Given the description of an element on the screen output the (x, y) to click on. 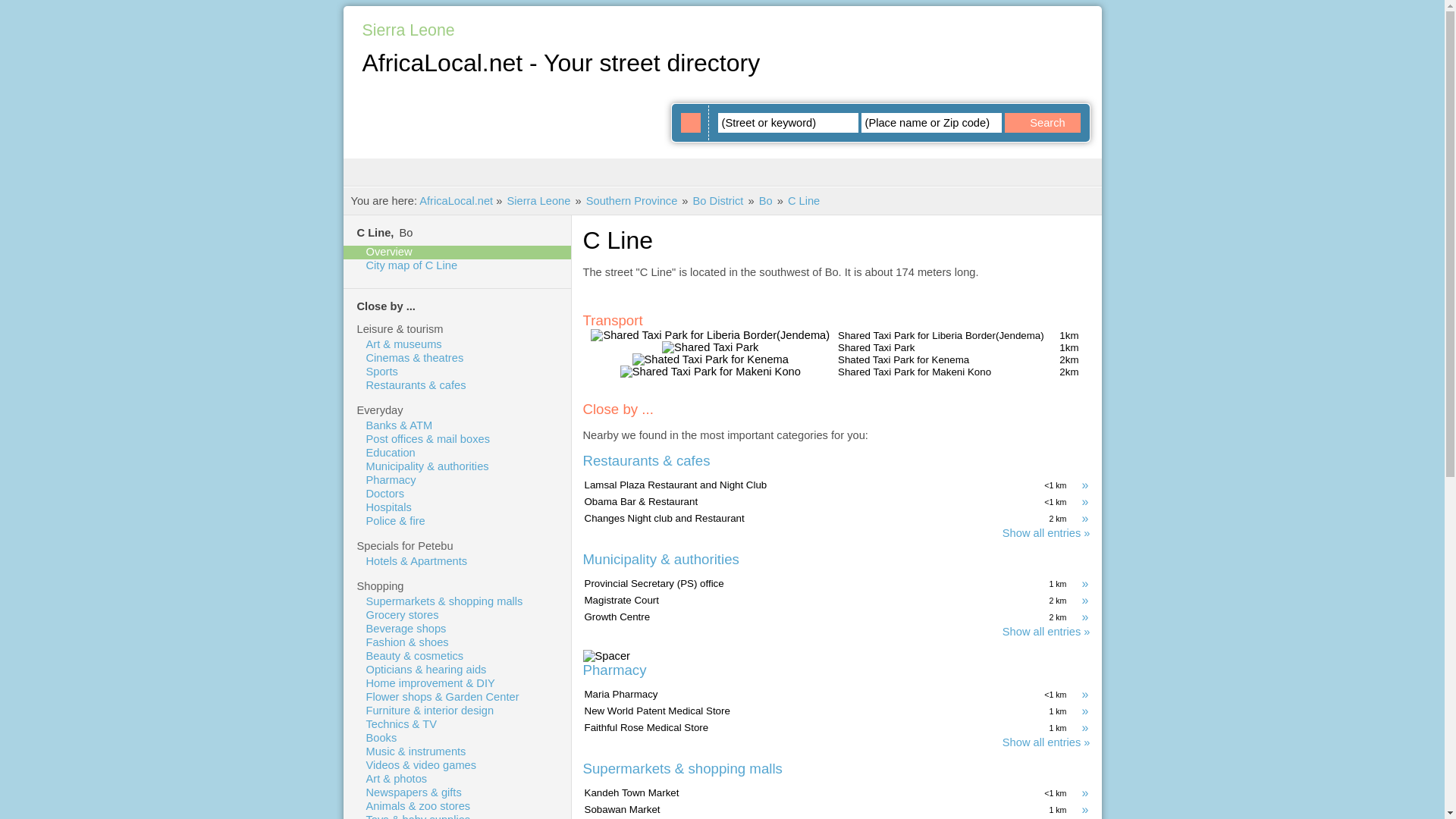
Search (1042, 122)
Sports (467, 371)
Education (467, 452)
Imprint (997, 17)
AfricaLocal.net (456, 200)
Sierra Leone (538, 200)
Hospitals (467, 507)
Report a bug (859, 17)
Privacy settings (951, 17)
